Given the description of an element on the screen output the (x, y) to click on. 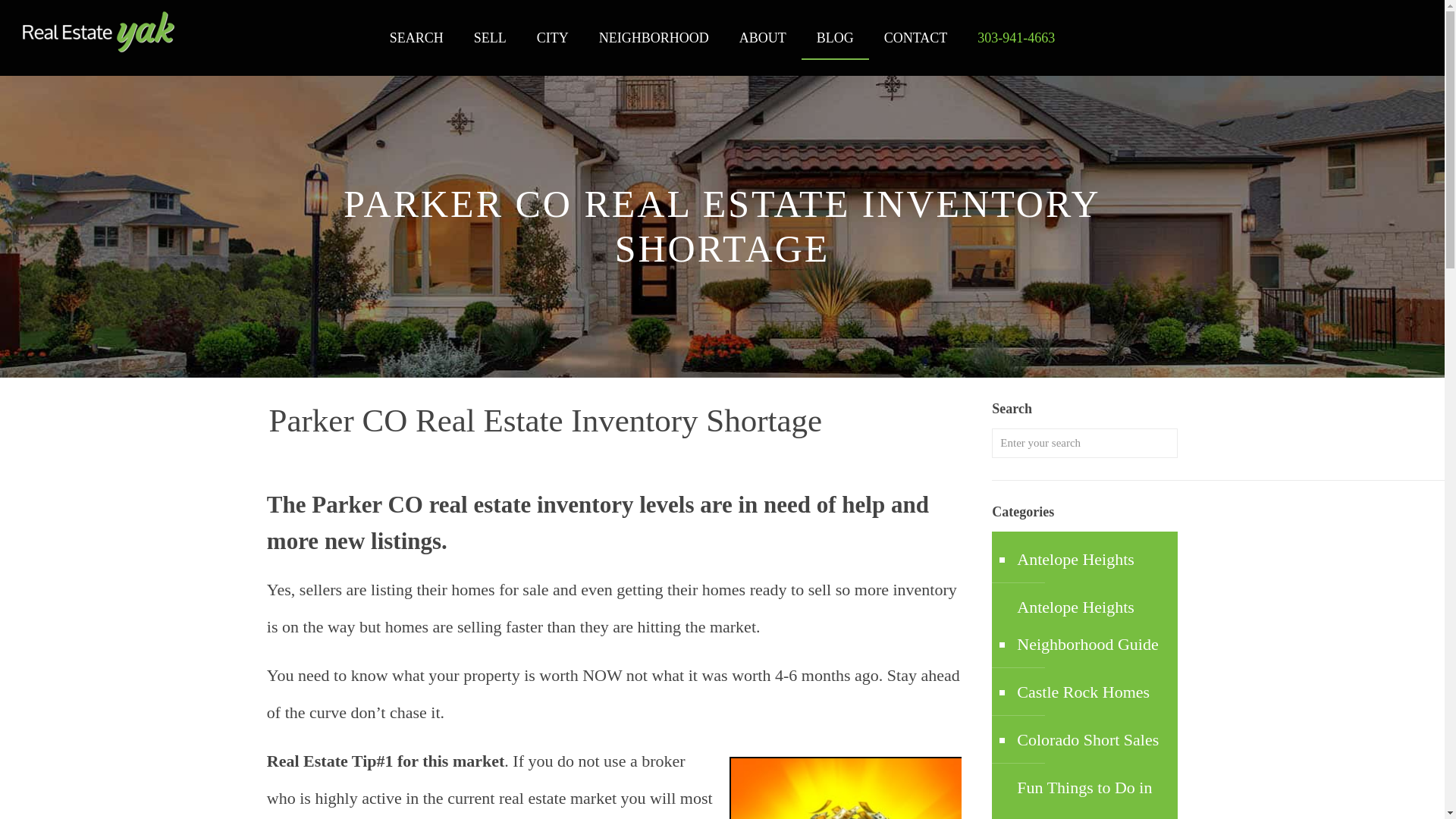
ABOUT (762, 37)
SEARCH (416, 37)
CITY (552, 37)
NEIGHBORHOOD (653, 37)
linkedin (1386, 46)
Discover luxury living in Parker, Colorado (98, 32)
303-941-4663 (1016, 37)
facebook (1356, 46)
BLOG (835, 37)
youtube (1416, 46)
SELL (489, 37)
CONTACT (915, 37)
